Given the description of an element on the screen output the (x, y) to click on. 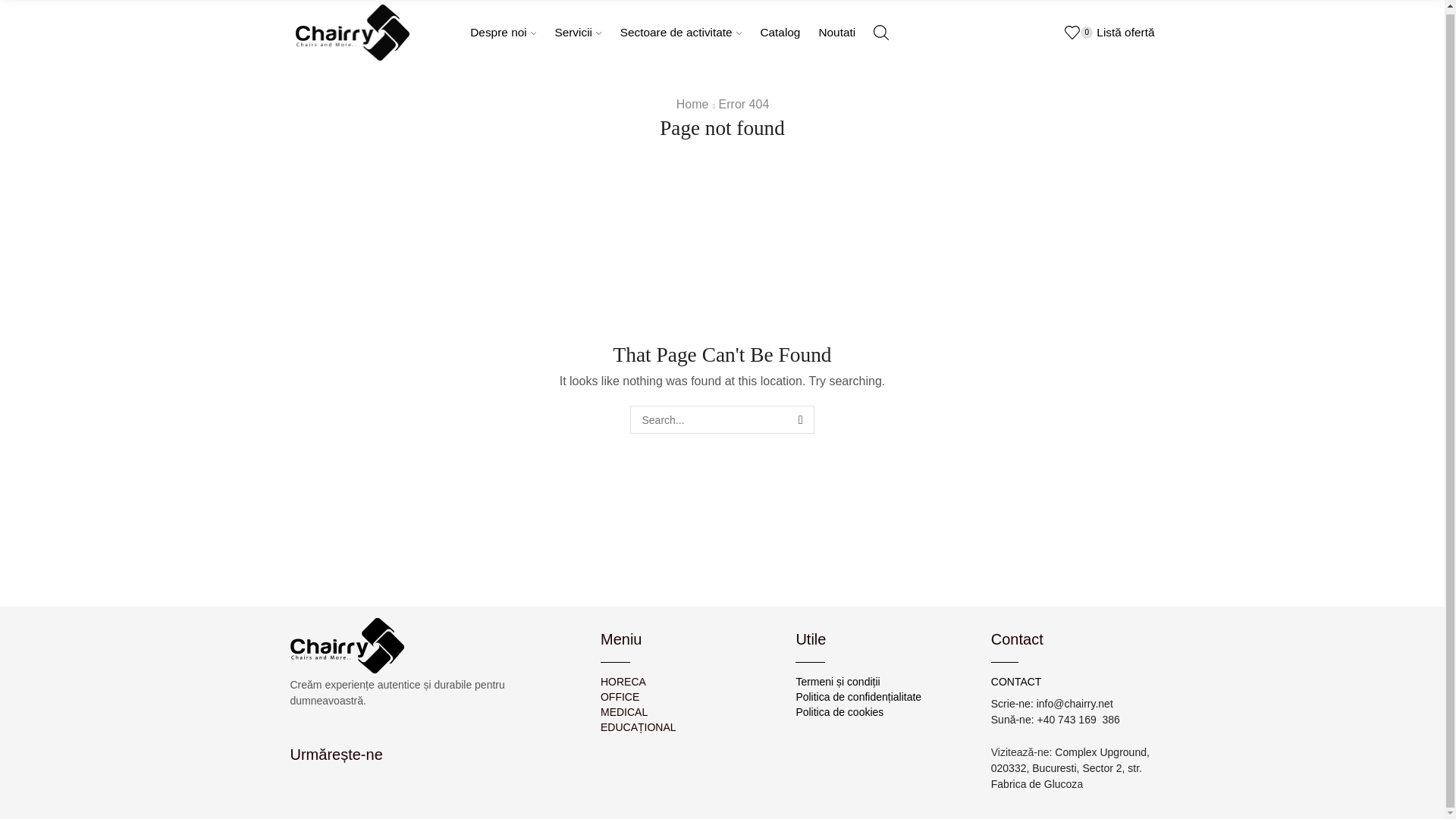
chairry-logo-black (346, 645)
MEDICAL (686, 711)
HORECA (686, 681)
OFFICE (686, 696)
Politica de cookies (881, 711)
